Given the description of an element on the screen output the (x, y) to click on. 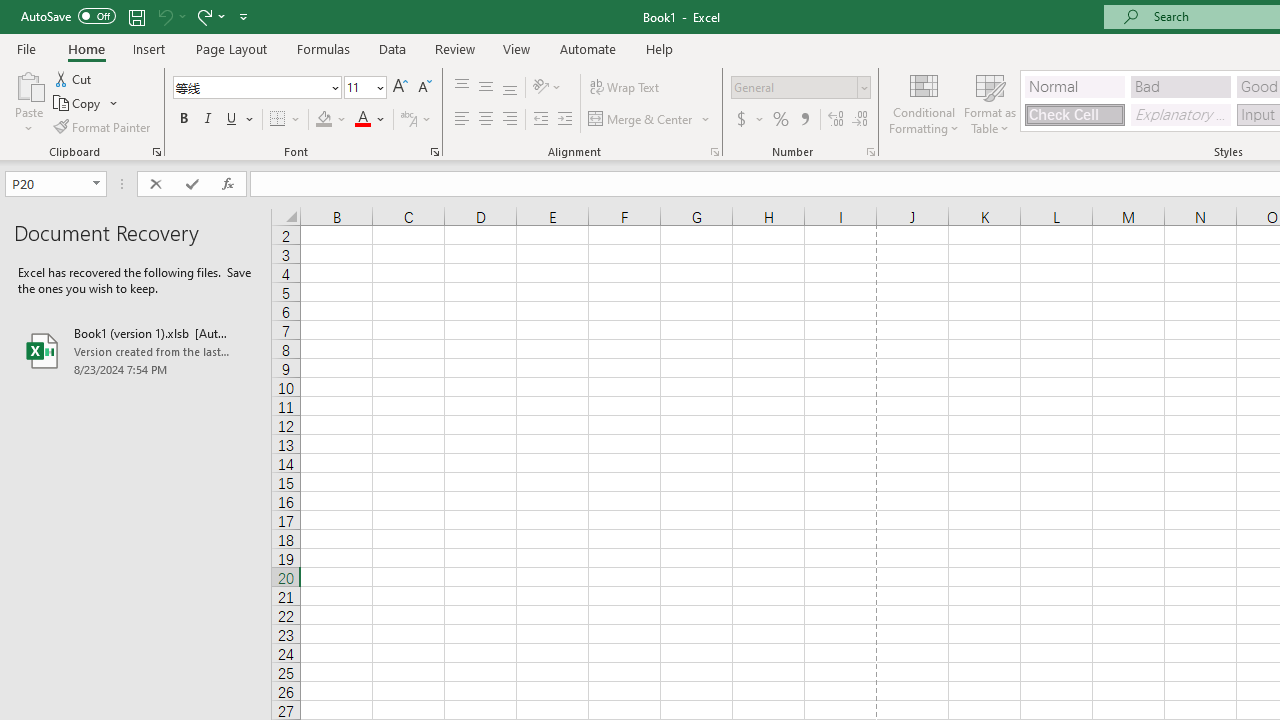
Format Painter (103, 126)
Bottom Border (278, 119)
Decrease Indent (540, 119)
Percent Style (781, 119)
Merge & Center (649, 119)
Font Color (370, 119)
Cut (73, 78)
Font Color RGB(255, 0, 0) (362, 119)
Bold (183, 119)
Decrease Font Size (424, 87)
Increase Decimal (836, 119)
Format Cell Number (870, 151)
